Given the description of an element on the screen output the (x, y) to click on. 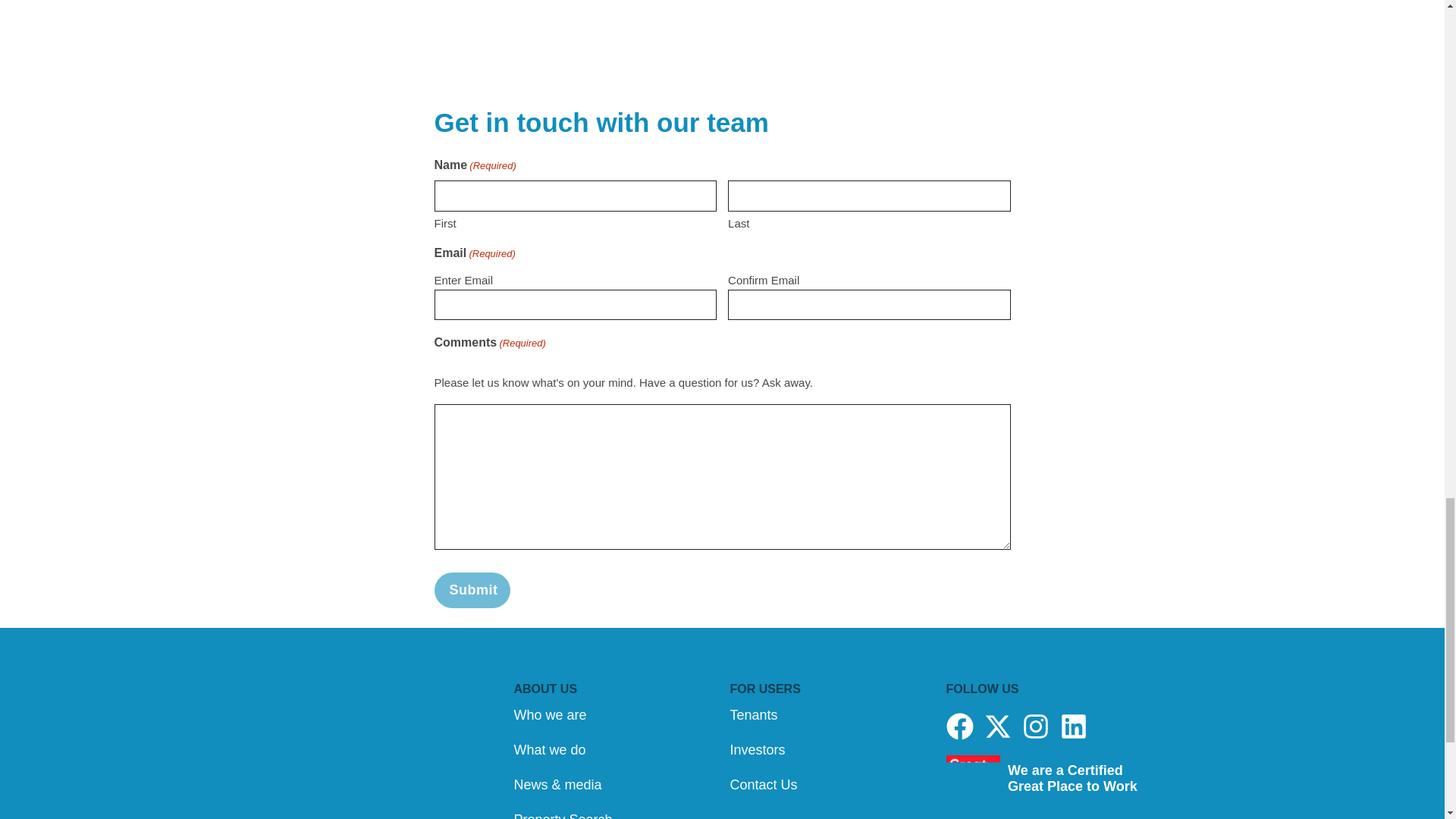
Who we are (613, 714)
Submit (471, 589)
Submit (471, 589)
